Given the description of an element on the screen output the (x, y) to click on. 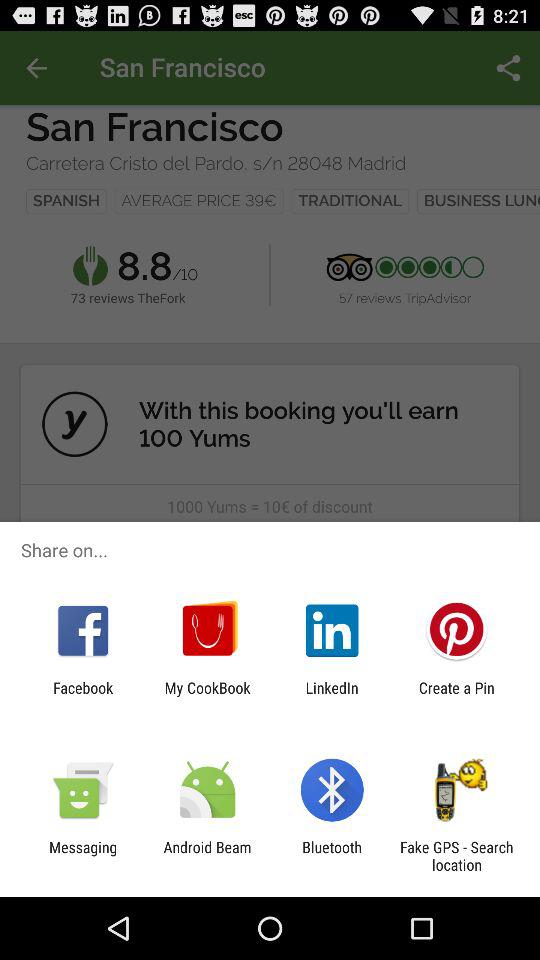
open item to the left of android beam (83, 856)
